Given the description of an element on the screen output the (x, y) to click on. 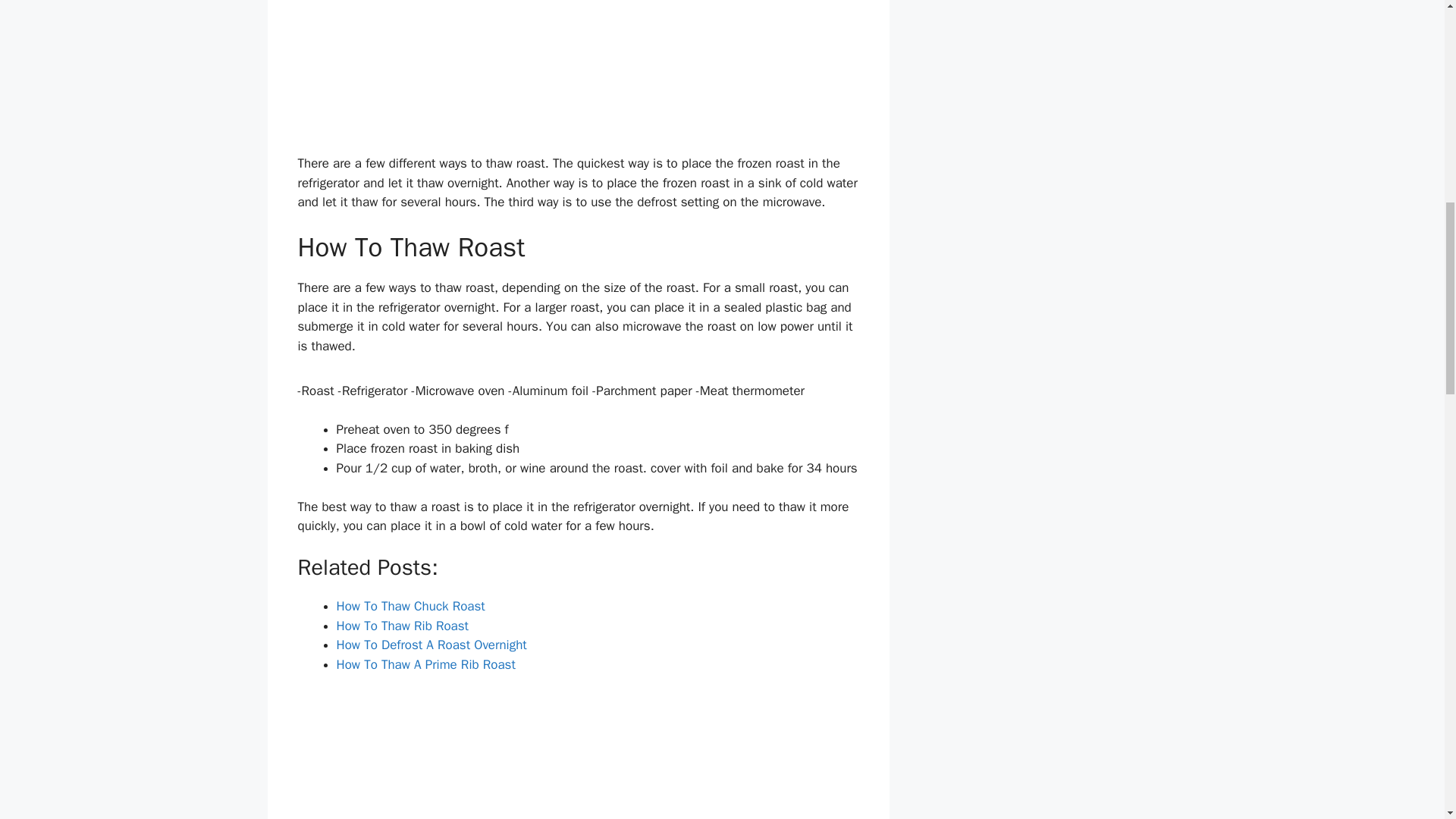
How To Thaw A Prime Rib Roast (425, 664)
How To Thaw Rib Roast (402, 625)
Advertisement (578, 74)
How To Defrost A Roast Overnight (431, 644)
How To Thaw Chuck Roast (410, 606)
